Given the description of an element on the screen output the (x, y) to click on. 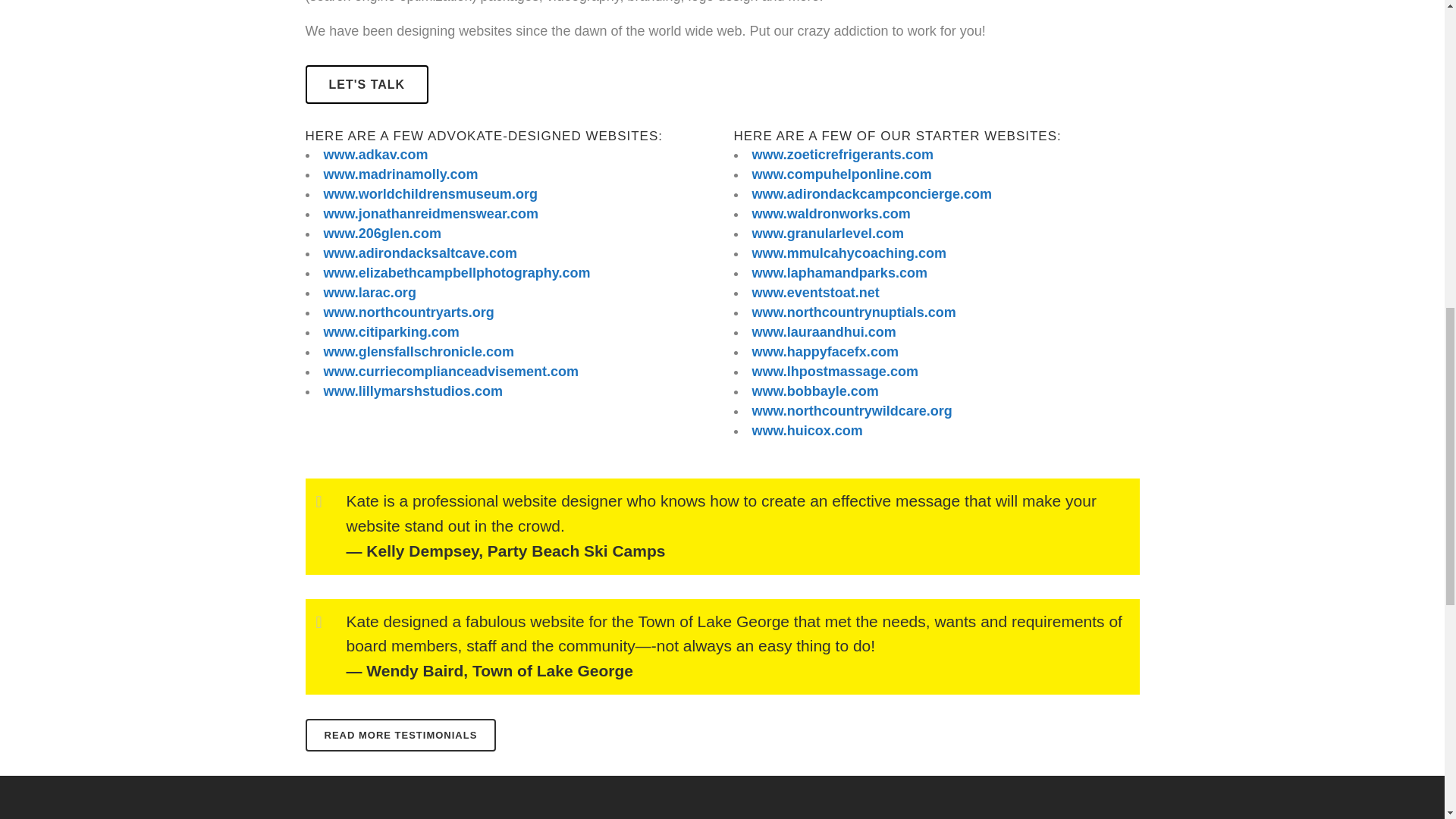
www.glensfallschronicle.com (418, 351)
LET'S TALK (366, 84)
www.elizabethcampbellphotography.com (456, 272)
www.madrinamolly.com (400, 174)
www.adirondacksaltcave.com (419, 253)
www.curriecomplianceadvisement.com (450, 371)
www.adkav.com (375, 154)
www.206glen.com (382, 233)
www.larac.org (368, 292)
www.worldchildrensmuseum.org (430, 193)
www.lillymarshstudios.com (412, 391)
www.northcountryarts.org (408, 312)
www.jonathanreidmenswear.com (430, 213)
www.citiparking.com (390, 331)
